Given the description of an element on the screen output the (x, y) to click on. 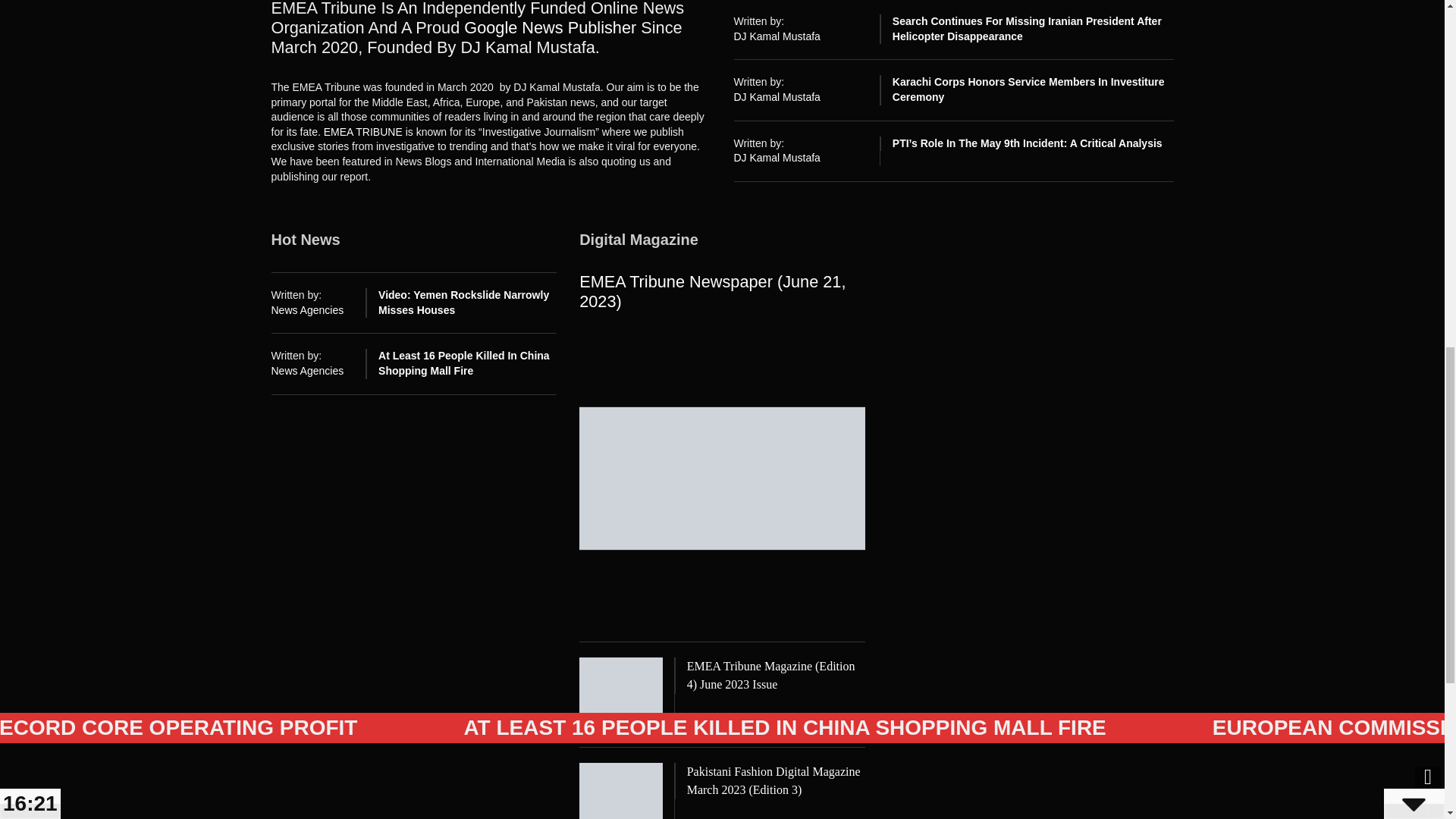
Video: Yemen rockslide narrowly misses houses (463, 302)
Karachi Corps Honors Service Members in Investiture Ceremony (1028, 89)
At least 16 people killed in China shopping mall fire (464, 362)
